Given the description of an element on the screen output the (x, y) to click on. 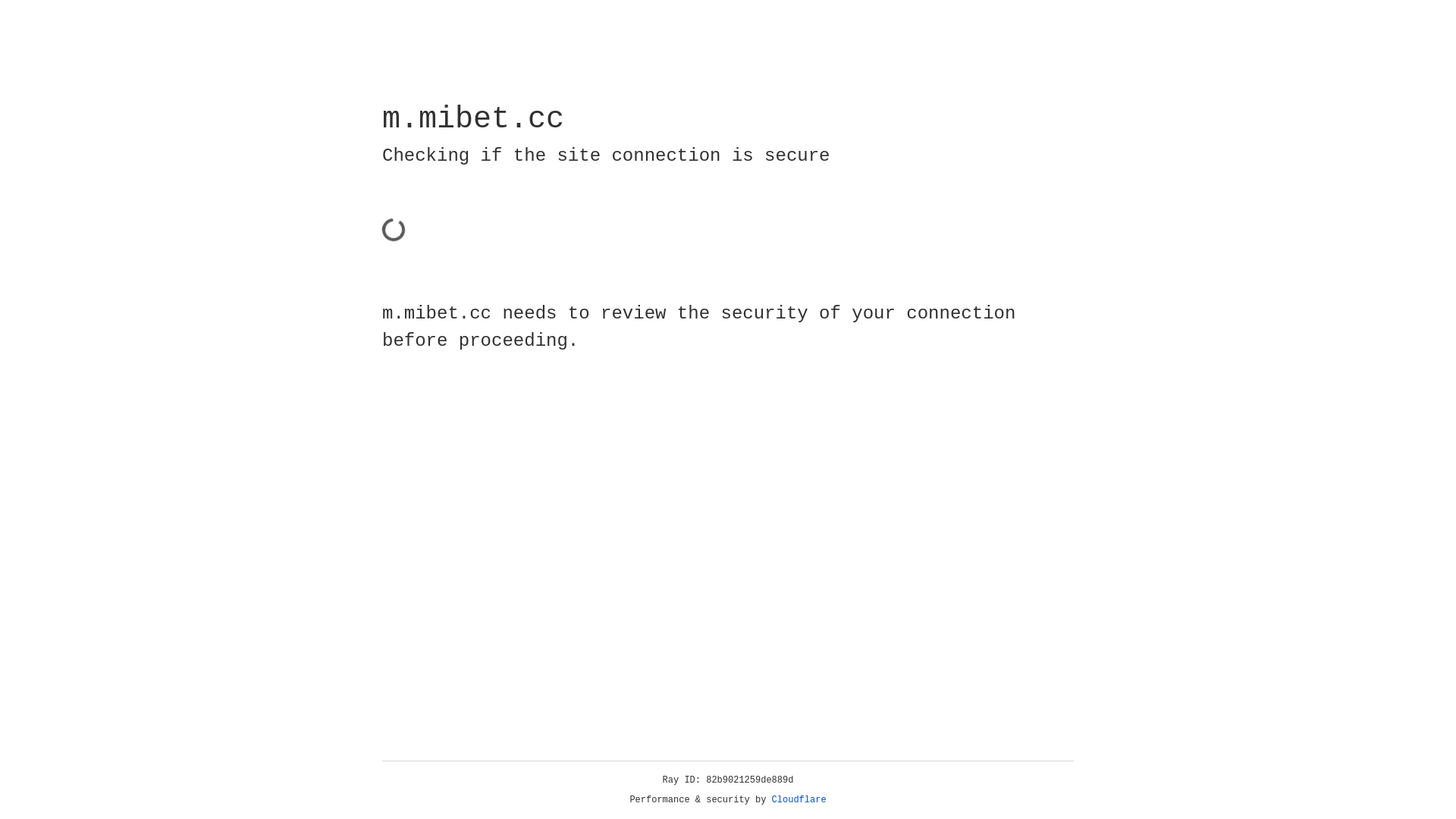
Cloudflare Element type: text (798, 799)
